Given the description of an element on the screen output the (x, y) to click on. 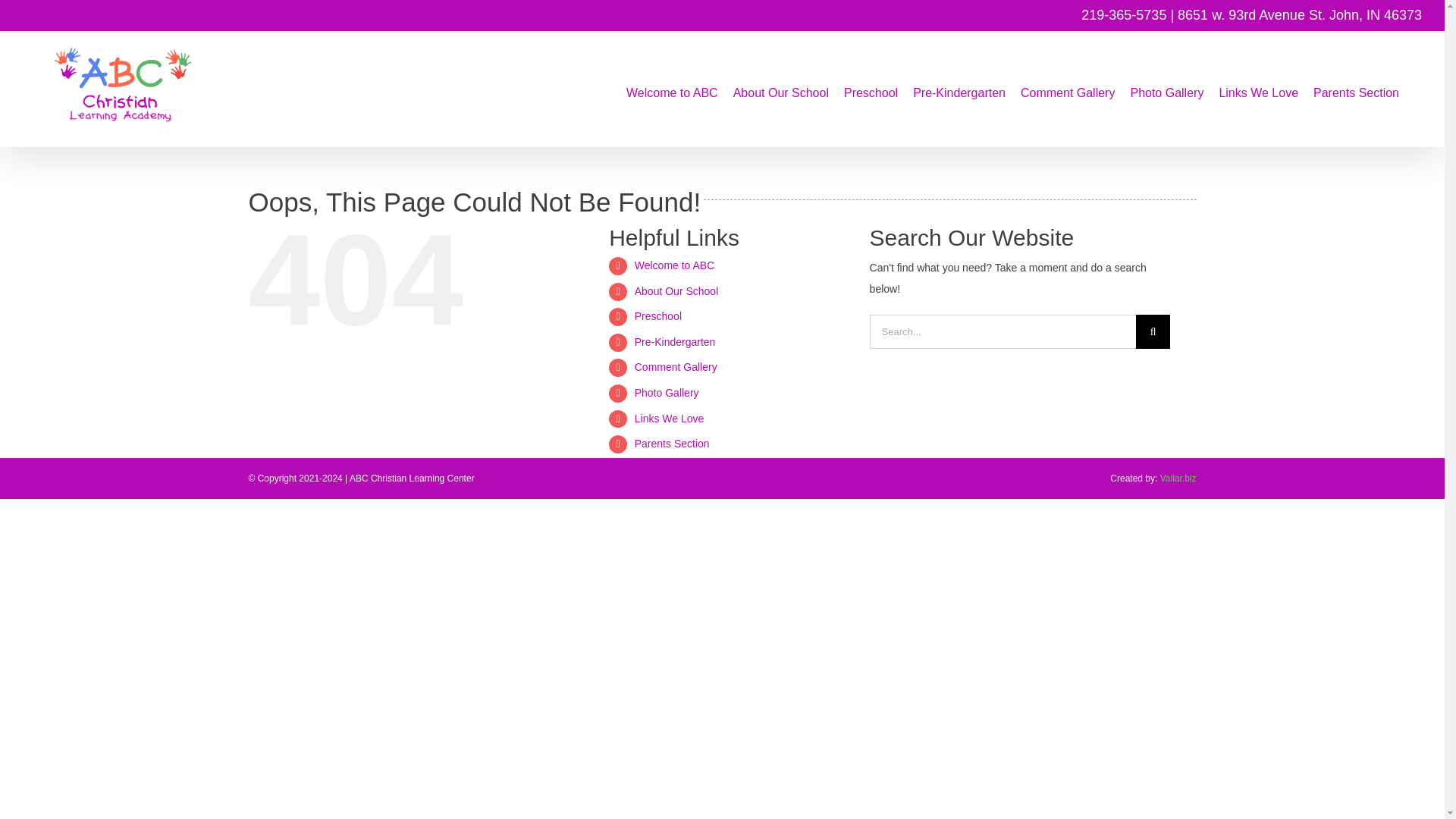
Welcome to ABC (671, 91)
Pre-Kindergarten (675, 341)
Parents Section (1356, 91)
Welcome to ABC (674, 265)
About Our School (780, 91)
About Our School (676, 291)
Links We Love (1258, 91)
Preschool (657, 316)
Vallar.biz (1178, 478)
Preschool (871, 91)
